Given the description of an element on the screen output the (x, y) to click on. 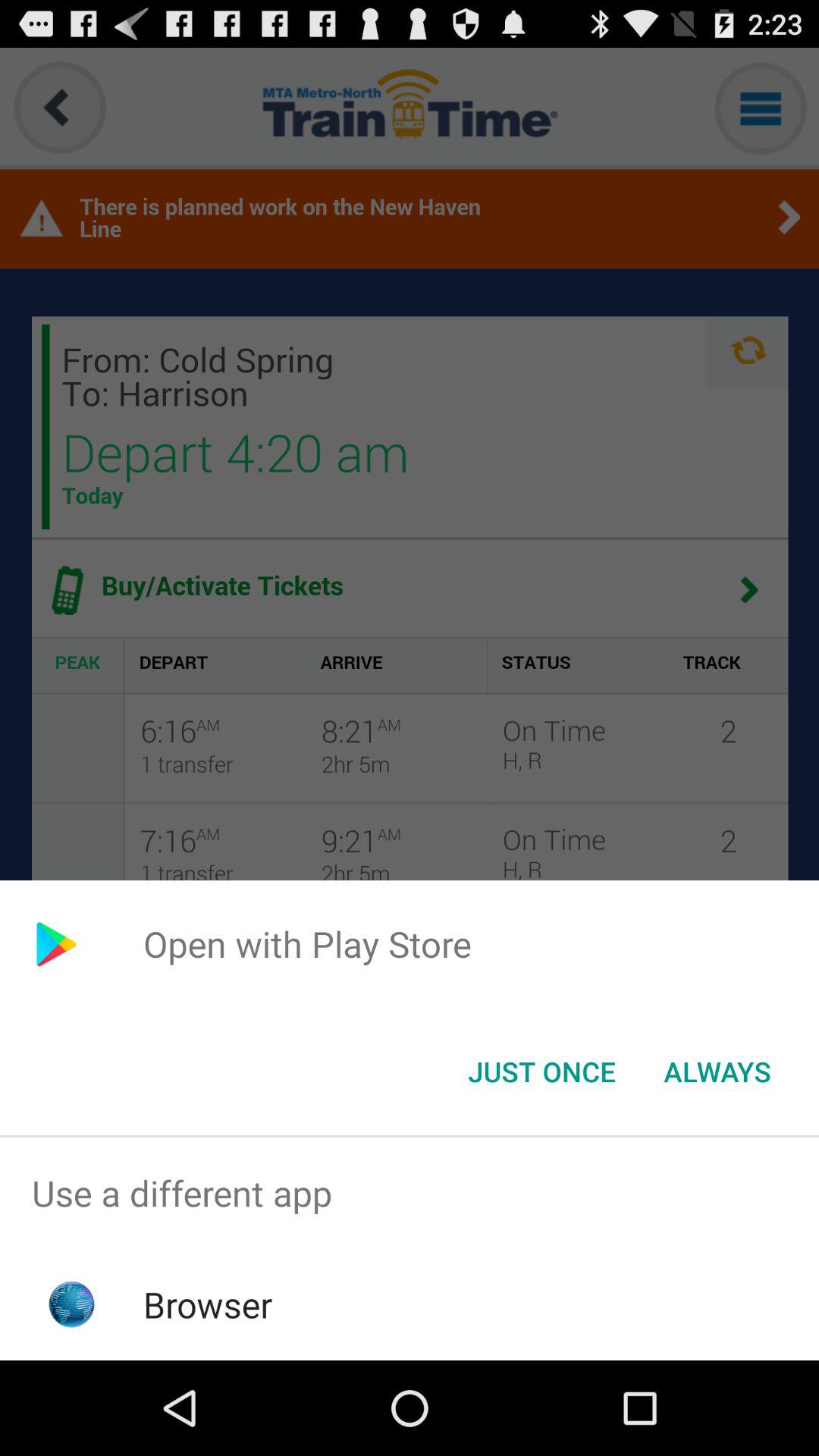
turn off use a different item (409, 1192)
